Given the description of an element on the screen output the (x, y) to click on. 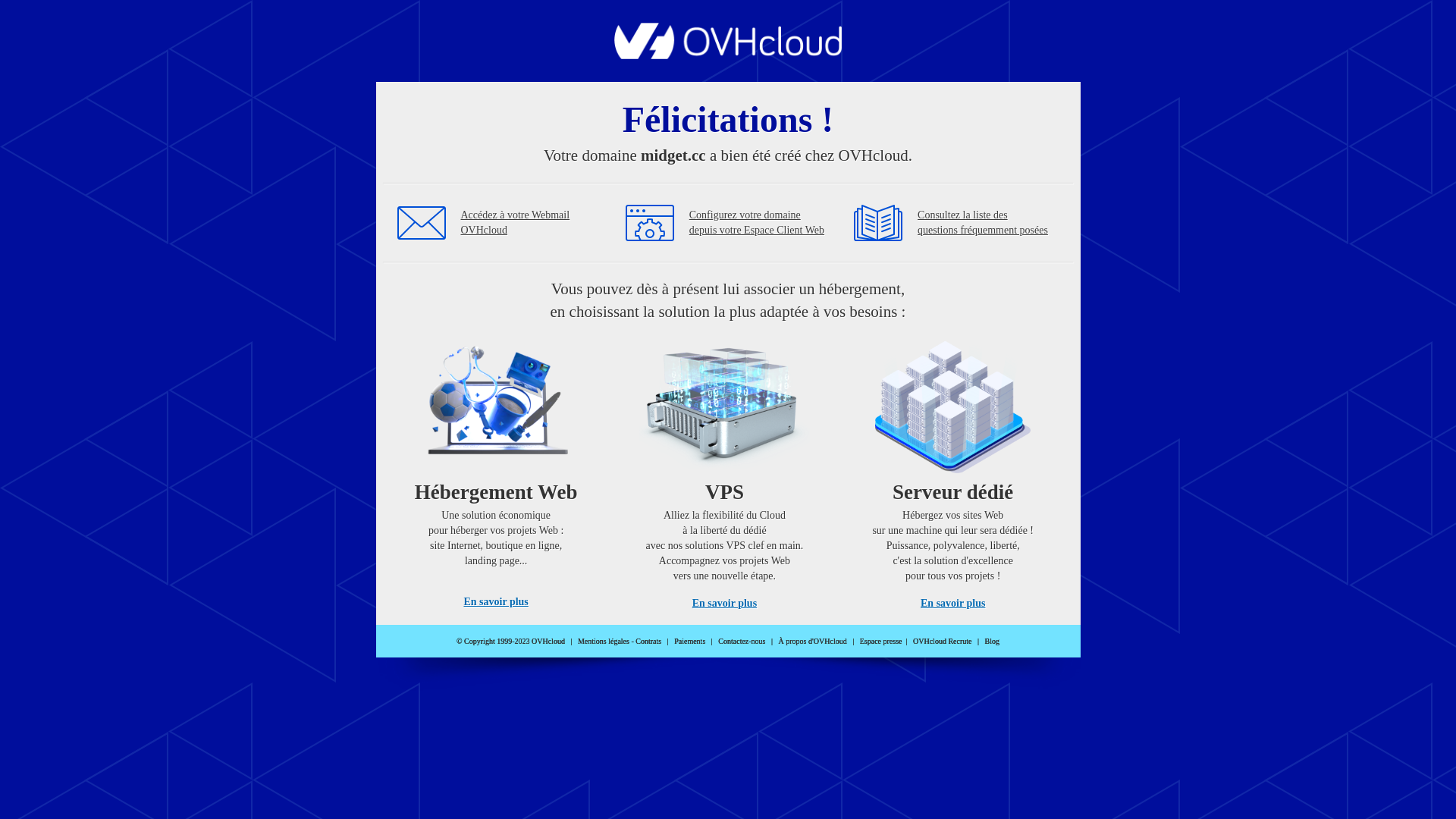
Configurez votre domaine
depuis votre Espace Client Web Element type: text (756, 222)
OVHcloud Recrute Element type: text (942, 641)
Blog Element type: text (992, 641)
En savoir plus Element type: text (952, 602)
Paiements Element type: text (689, 641)
VPS Element type: hover (724, 469)
En savoir plus Element type: text (495, 601)
Espace presse Element type: text (880, 641)
Contactez-nous Element type: text (741, 641)
En savoir plus Element type: text (724, 602)
OVHcloud Element type: hover (727, 54)
